Given the description of an element on the screen output the (x, y) to click on. 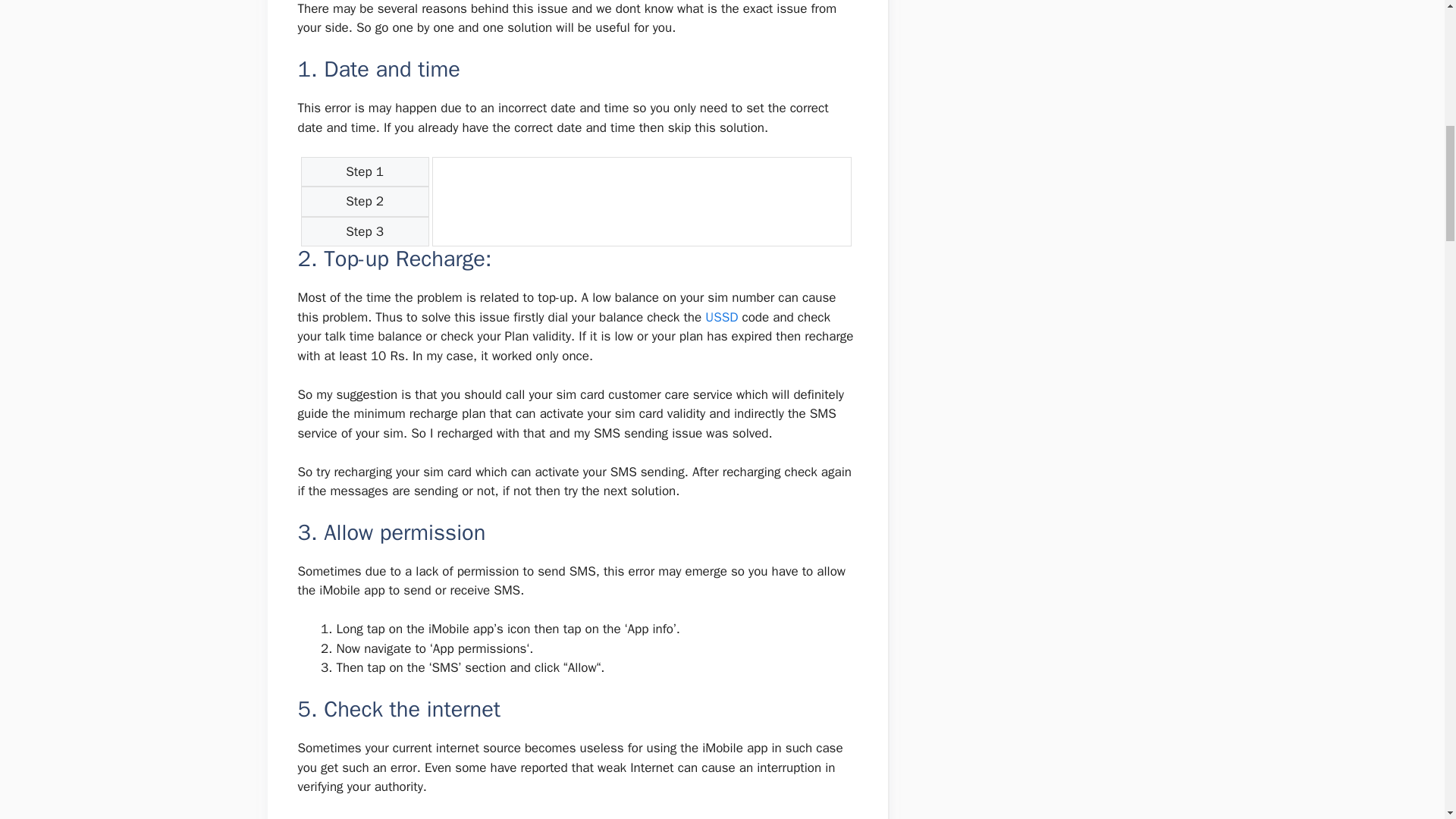
Step 1 (364, 172)
Step 3 (364, 231)
Step 2 (364, 201)
USSD (721, 317)
